Given the description of an element on the screen output the (x, y) to click on. 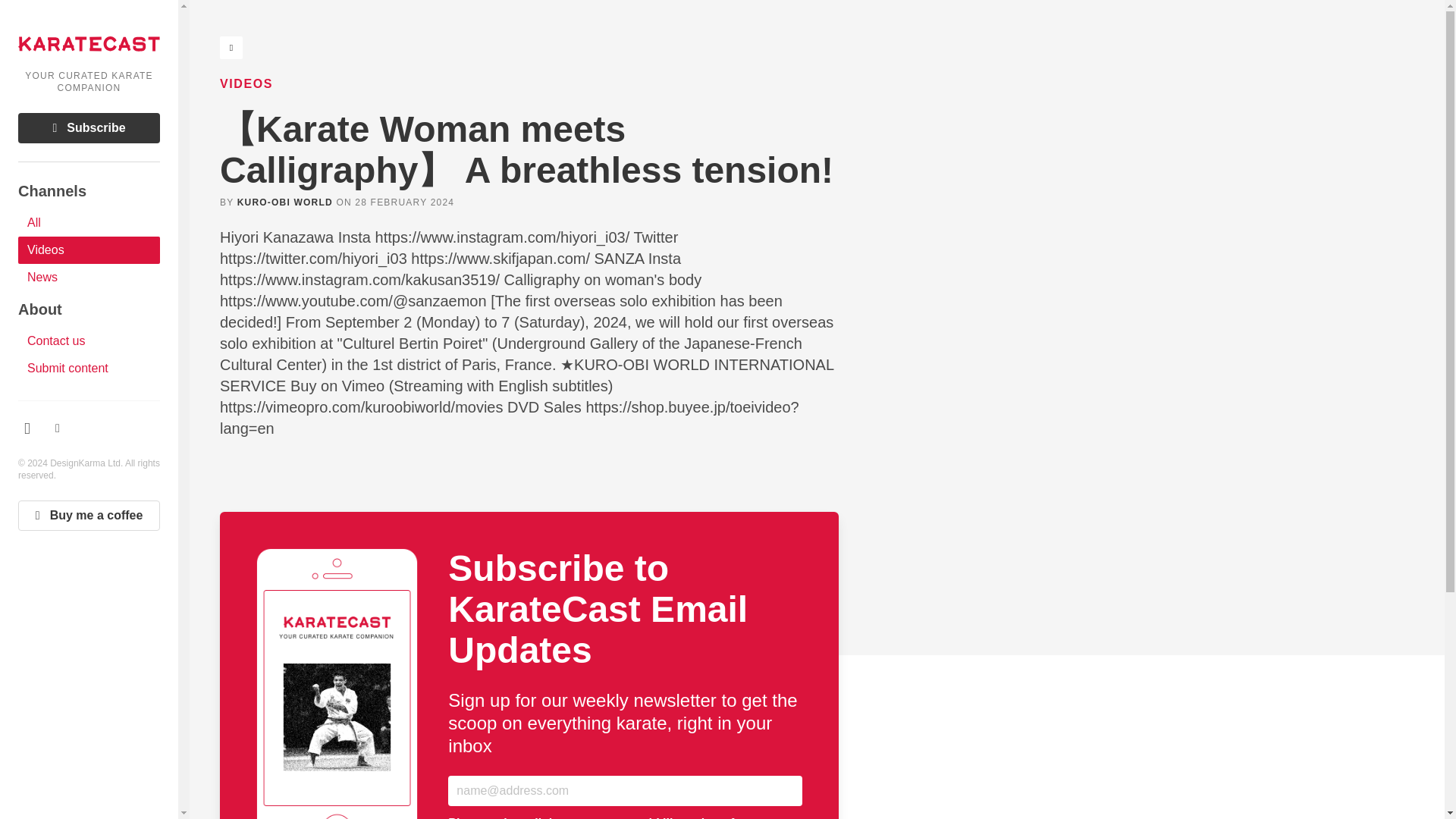
All (88, 222)
VIDEOS (246, 83)
Videos (88, 249)
Subscribe (88, 128)
Buy me a coffee (88, 515)
Submit content (88, 368)
Subscribe (88, 128)
News (88, 277)
Contact us (88, 340)
